Given the description of an element on the screen output the (x, y) to click on. 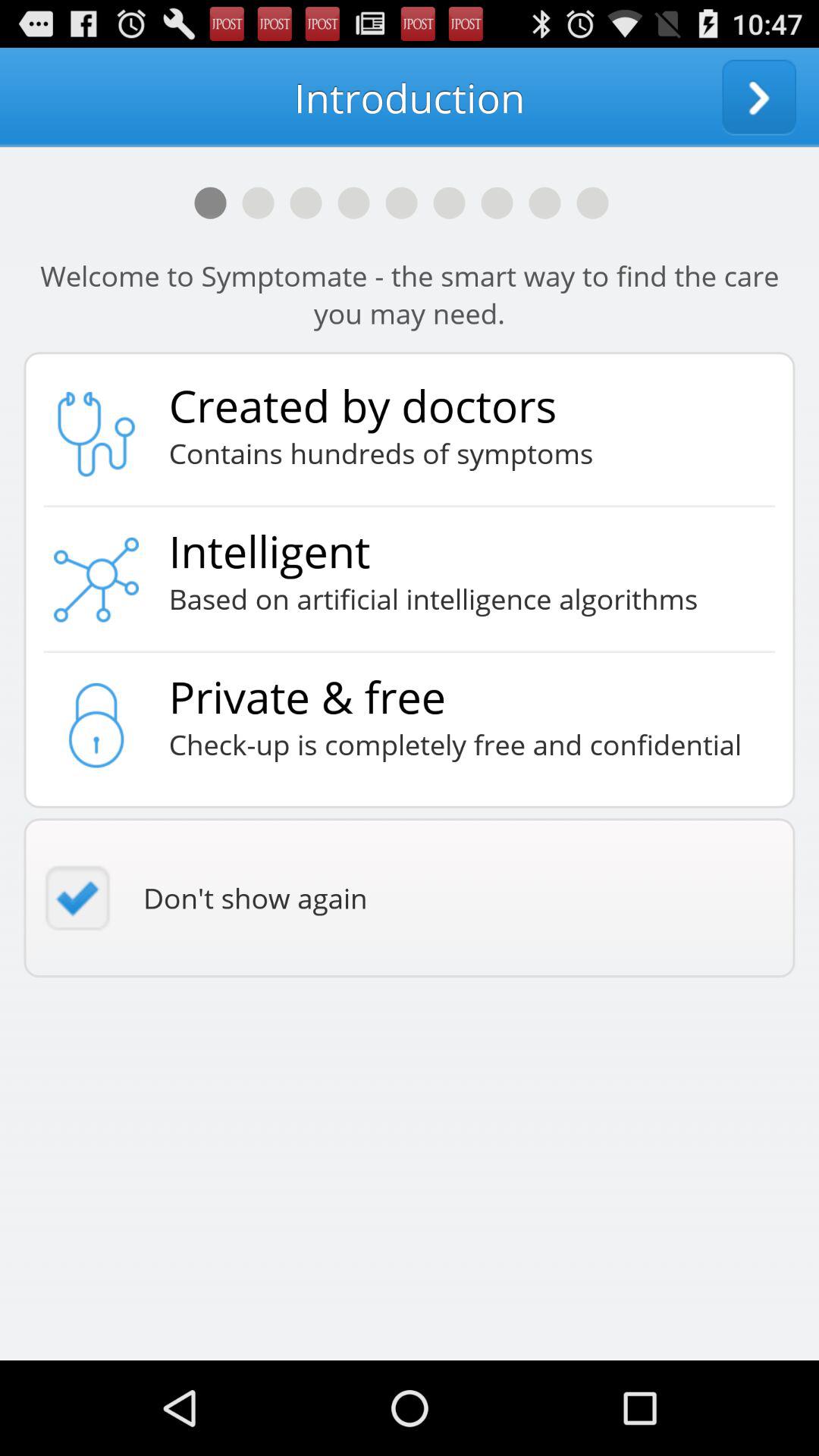
select don t show (409, 897)
